Given the description of an element on the screen output the (x, y) to click on. 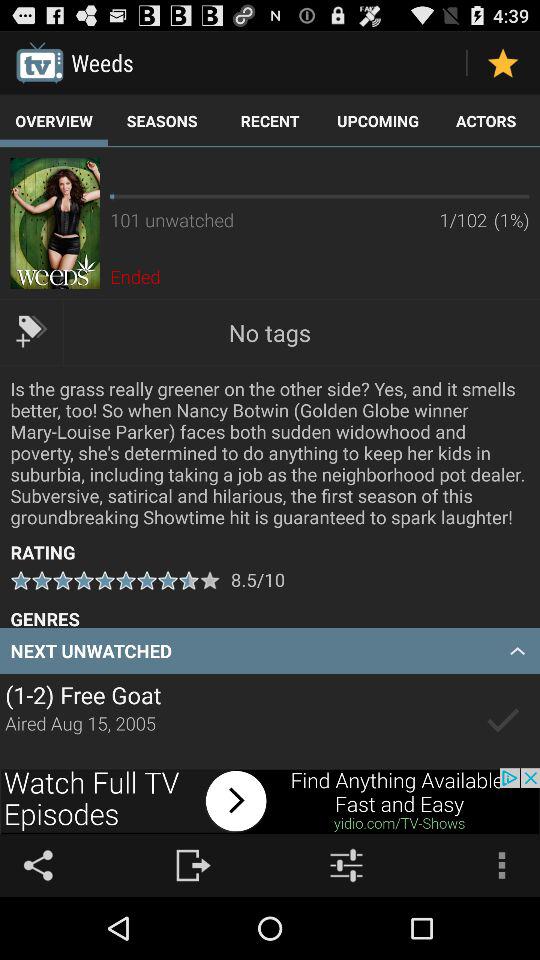
open an image (54, 223)
